Given the description of an element on the screen output the (x, y) to click on. 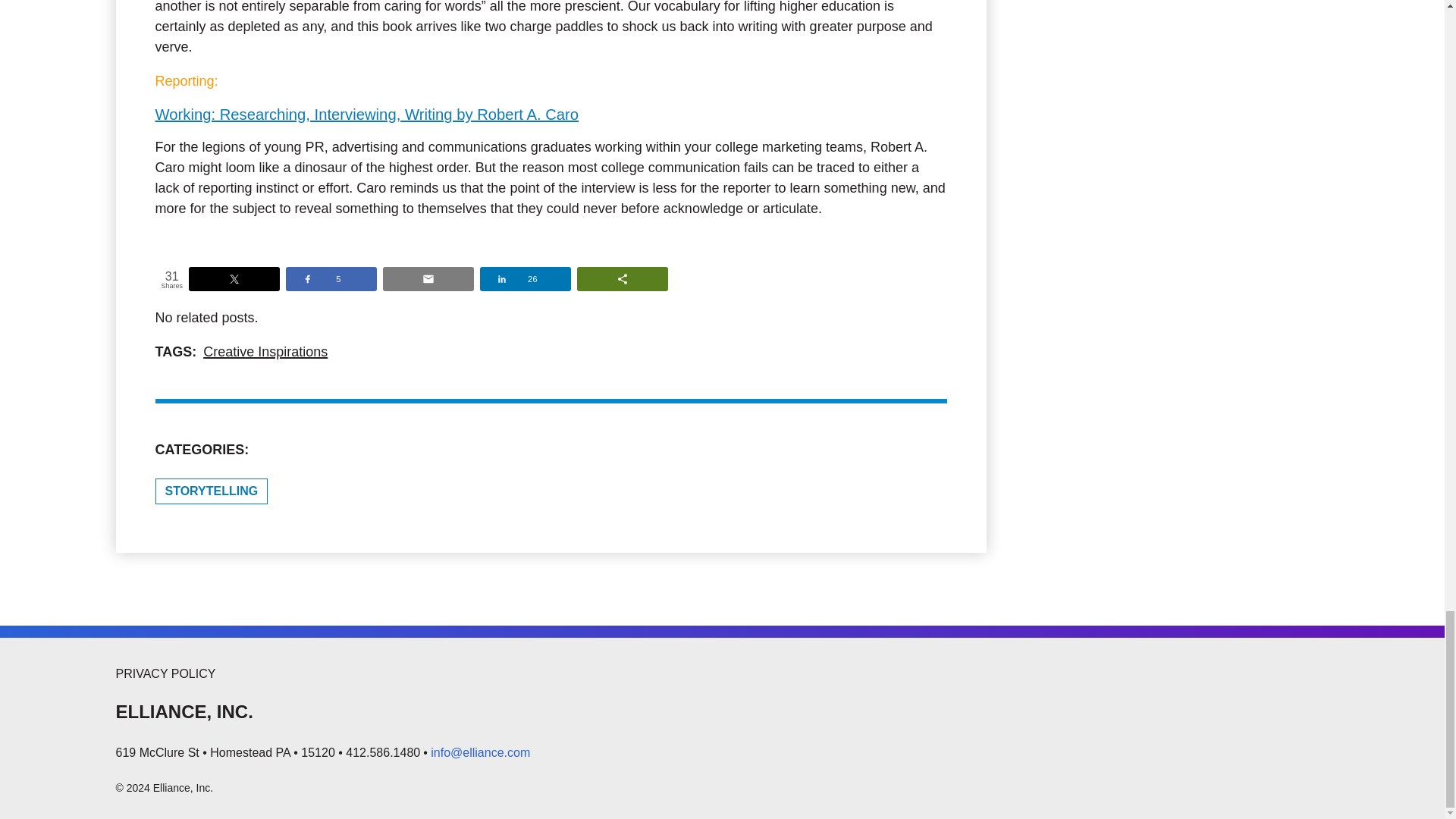
STORYTELLING (210, 491)
Creative Inspirations (265, 351)
